Given the description of an element on the screen output the (x, y) to click on. 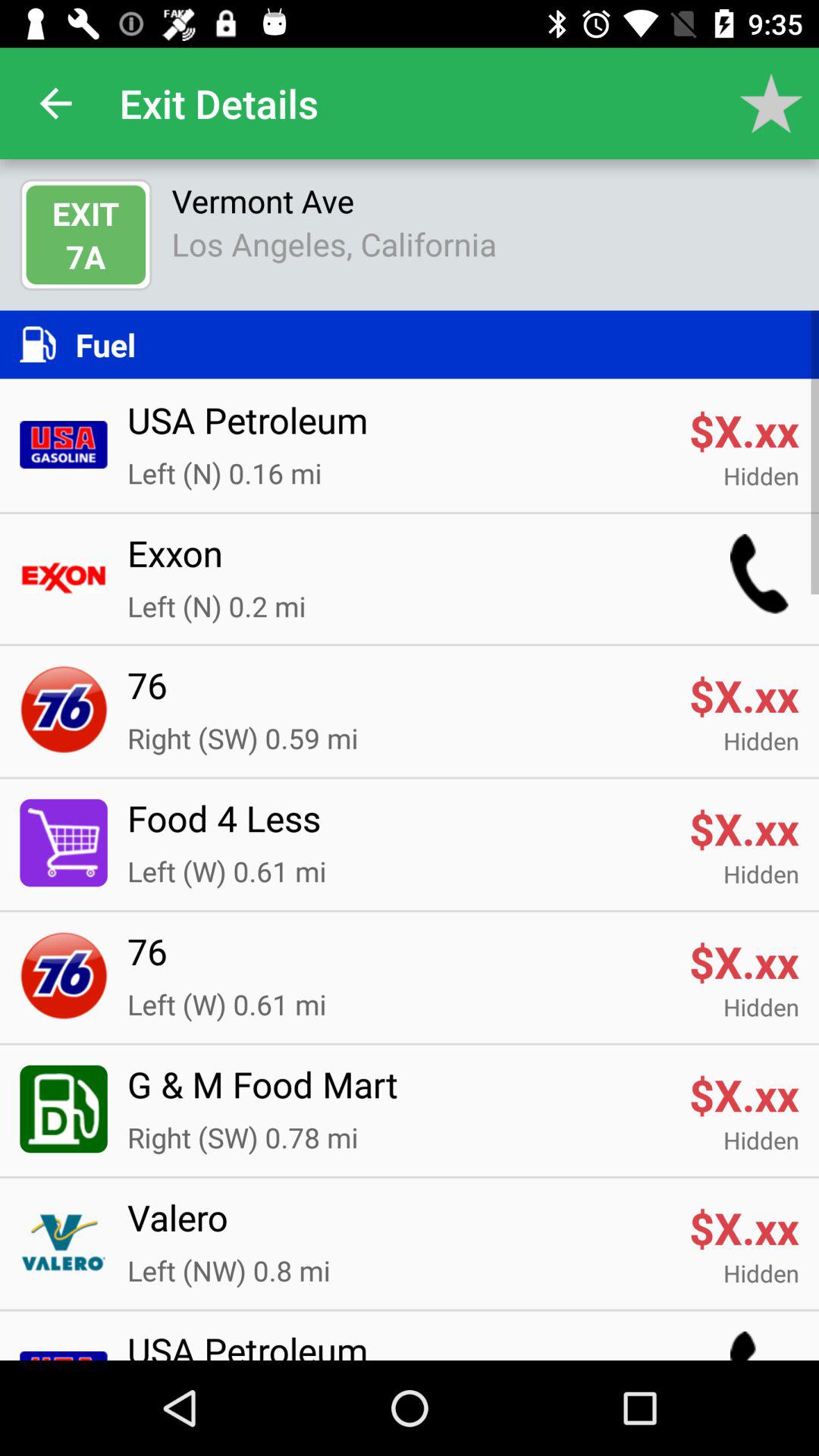
turn off item above the vermont ave item (771, 103)
